Given the description of an element on the screen output the (x, y) to click on. 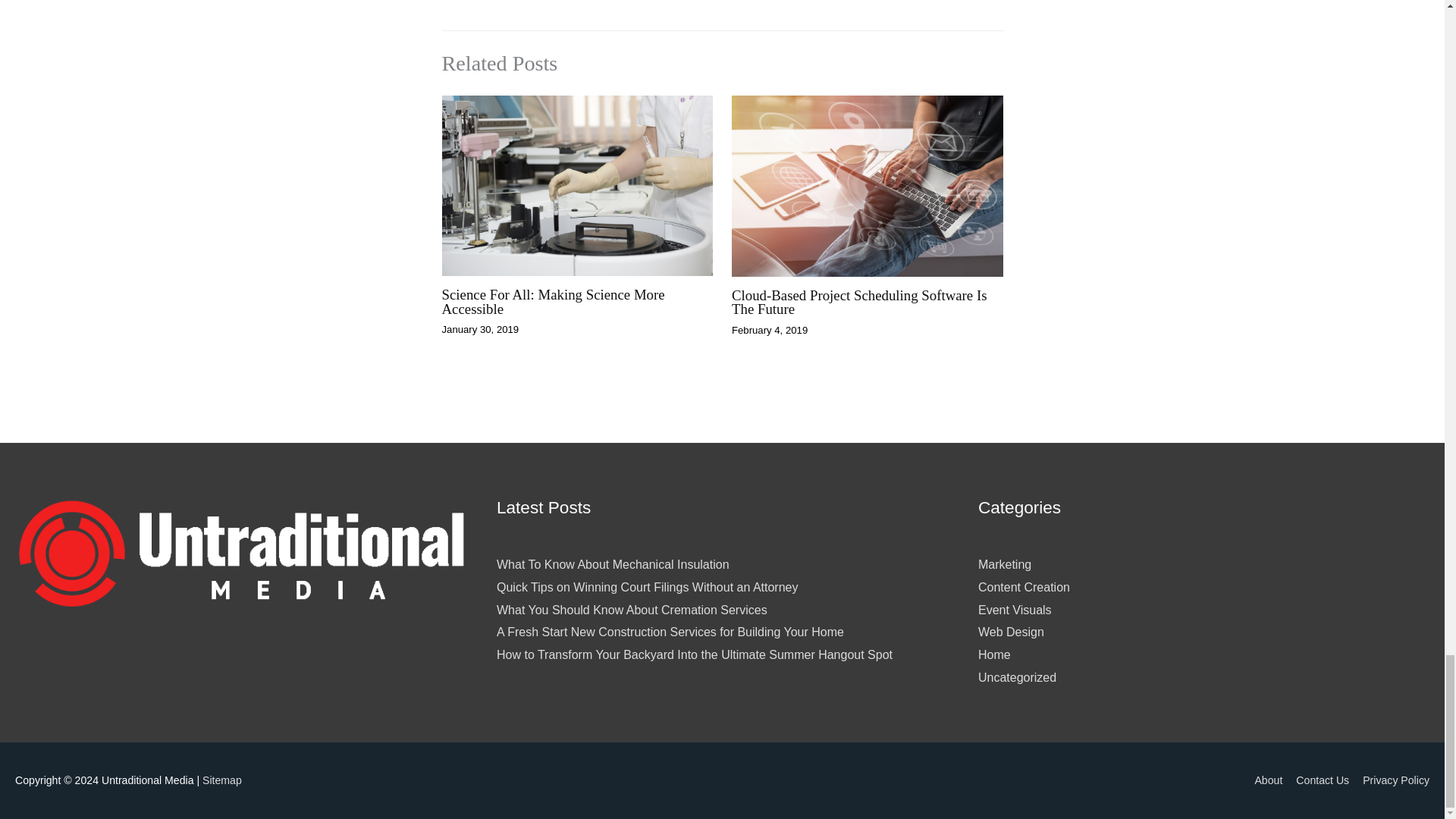
Science For All: Making Science More Accessible (552, 301)
